Given the description of an element on the screen output the (x, y) to click on. 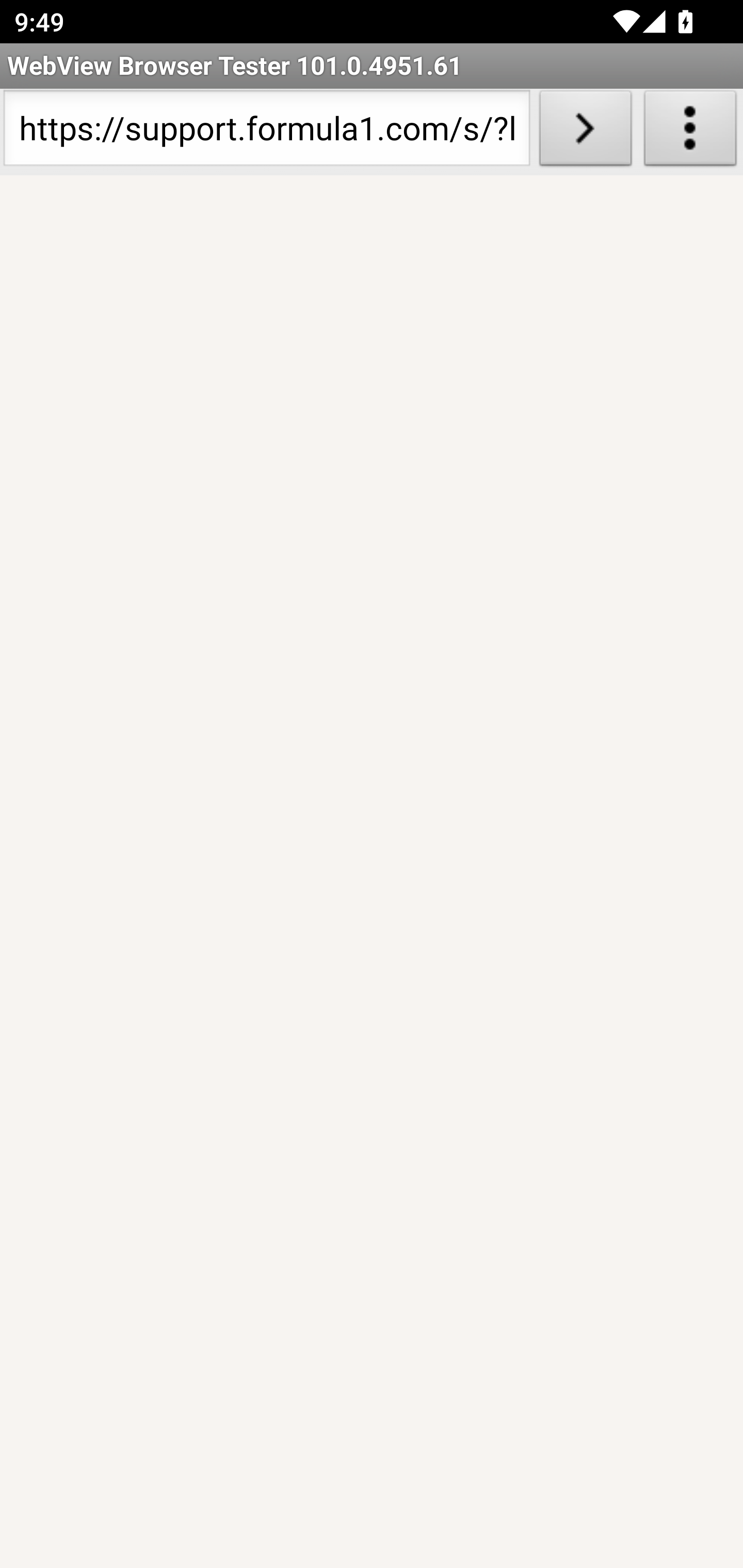
https://support.formula1.com/s/?language=en_US (266, 132)
Load URL (585, 132)
About WebView (690, 132)
